Given the description of an element on the screen output the (x, y) to click on. 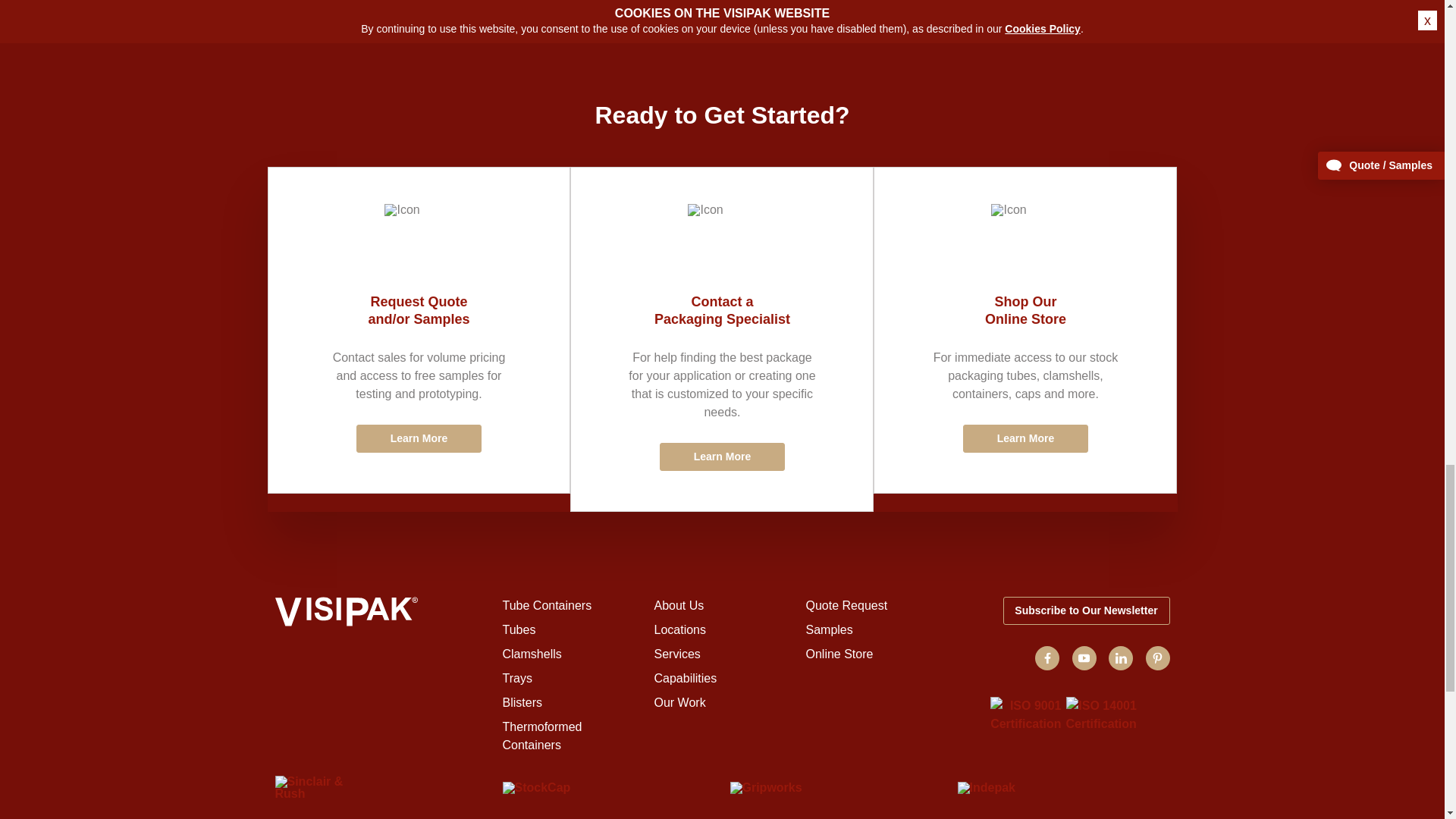
Trays (516, 677)
Blisters (521, 702)
VisiPak (380, 614)
Clamshells (531, 653)
Shop Online (1025, 330)
Our Locations (679, 629)
About Us (678, 604)
Request a Quote or Sample (418, 330)
Thermoformed Containers (541, 735)
Tubes (518, 629)
Tube Containers (546, 604)
